Given the description of an element on the screen output the (x, y) to click on. 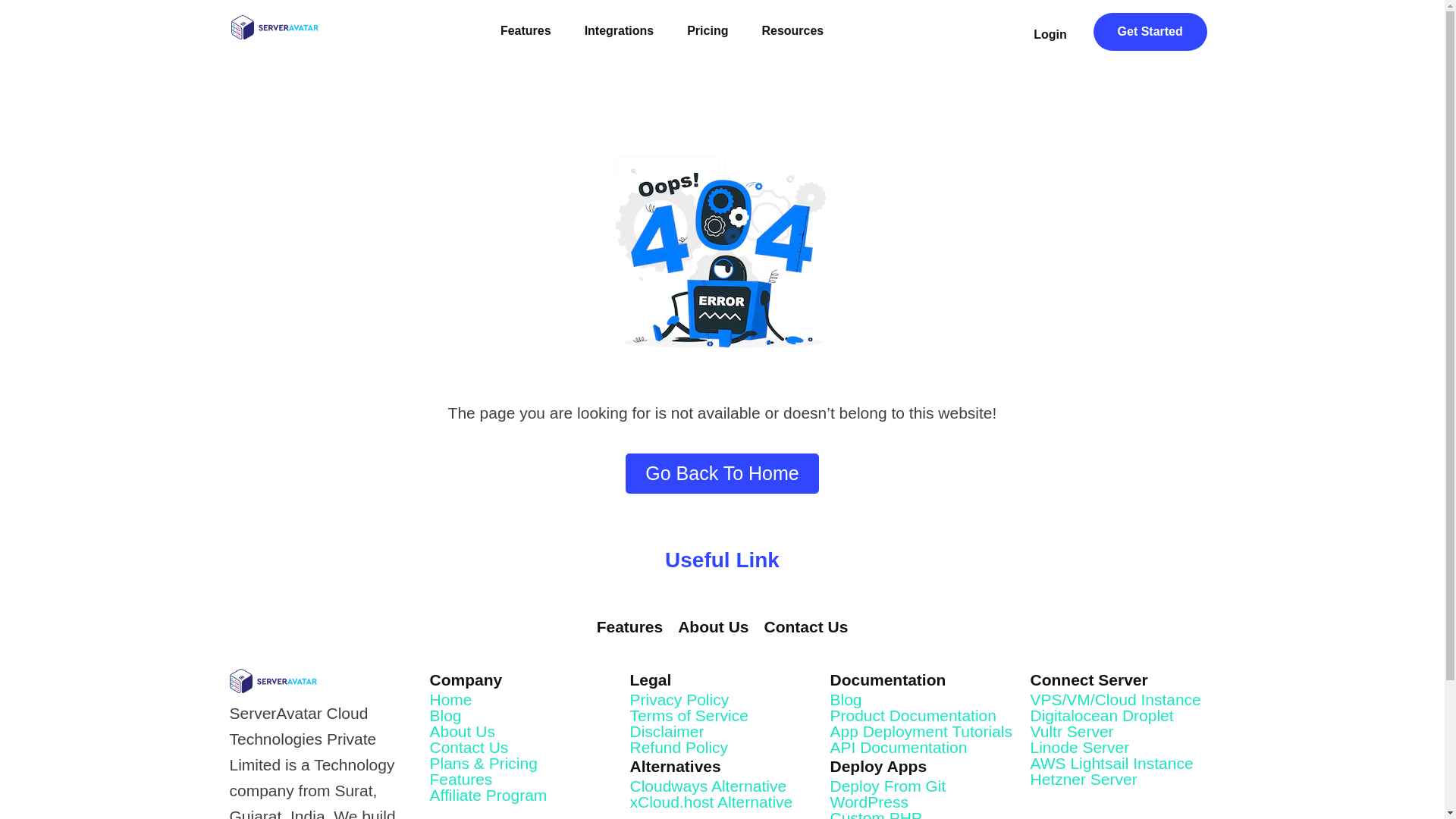
Integrations (619, 30)
Resources (798, 30)
Go Back To Home (722, 473)
Login (1050, 34)
Get Started (1150, 30)
Pricing (706, 30)
Features (629, 626)
Features (525, 30)
About Us (713, 626)
Contact Us (806, 626)
